Given the description of an element on the screen output the (x, y) to click on. 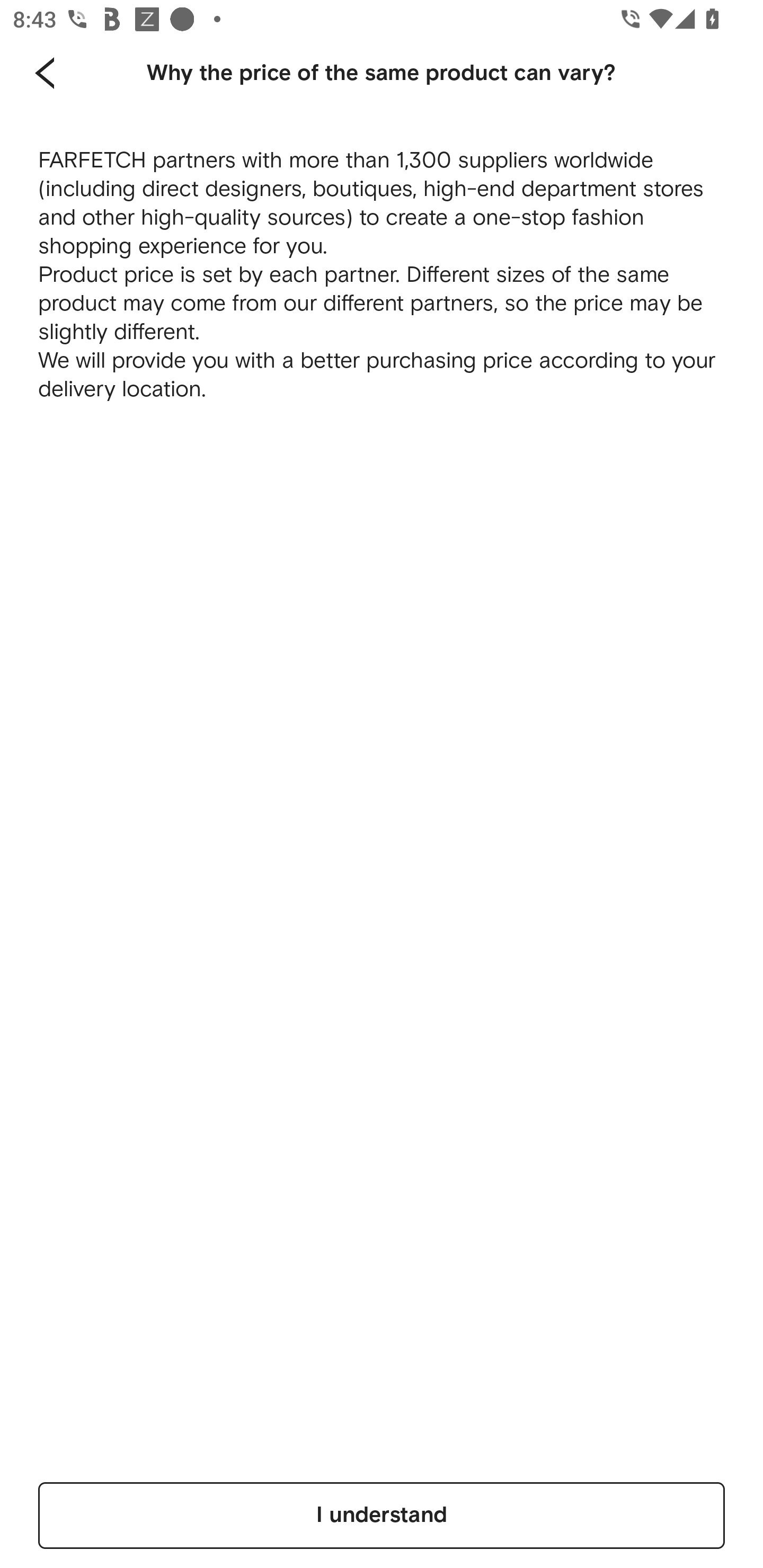
I understand (381, 1515)
